Given the description of an element on the screen output the (x, y) to click on. 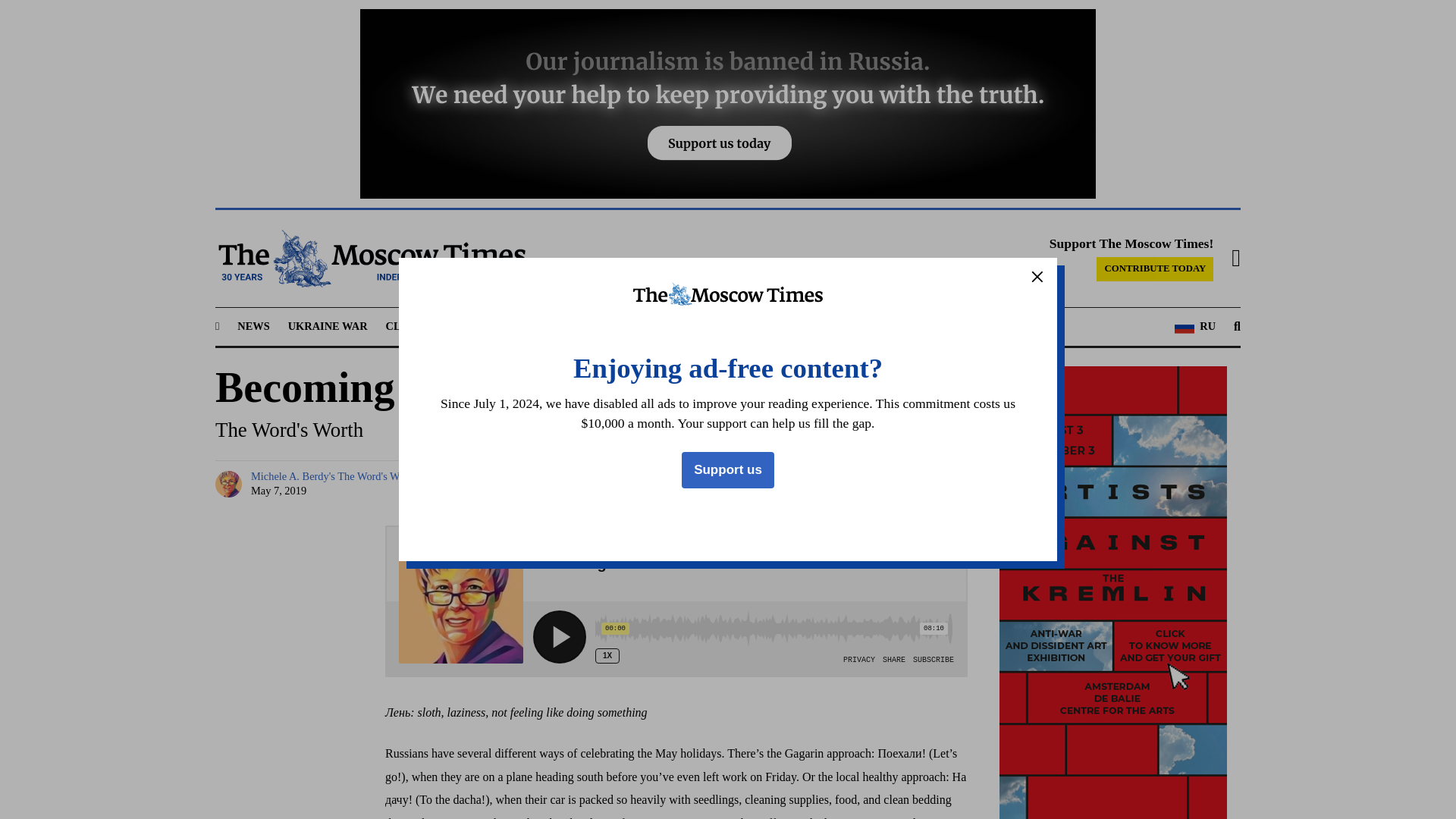
OPINION (708, 326)
BUSINESS (550, 326)
UKRAINE WAR (328, 326)
Michele A. Berdy's The Word's Worth (333, 476)
MEANWHILE (629, 326)
Share on Flipboard (925, 483)
Support us (727, 470)
The Moscow Times - Independent News from Russia (370, 258)
ARCHIVE (853, 326)
Michele A. Berdy's The Word's Worth (230, 483)
REGIONS (479, 326)
RU (1194, 326)
Share on Twitter (810, 483)
CONTRIBUTE TODAY (1154, 269)
CLIMATE (411, 326)
